Given the description of an element on the screen output the (x, y) to click on. 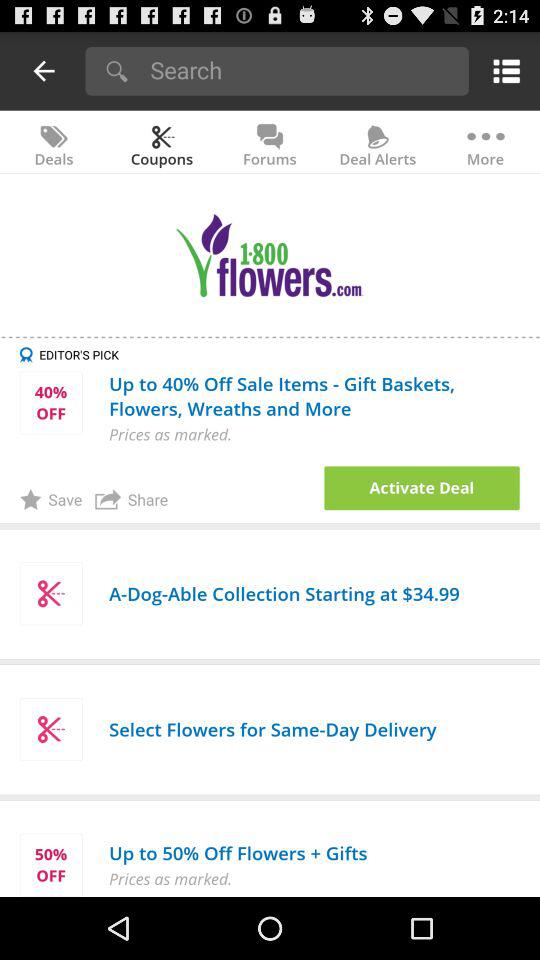
press the select flowers for item (272, 728)
